Given the description of an element on the screen output the (x, y) to click on. 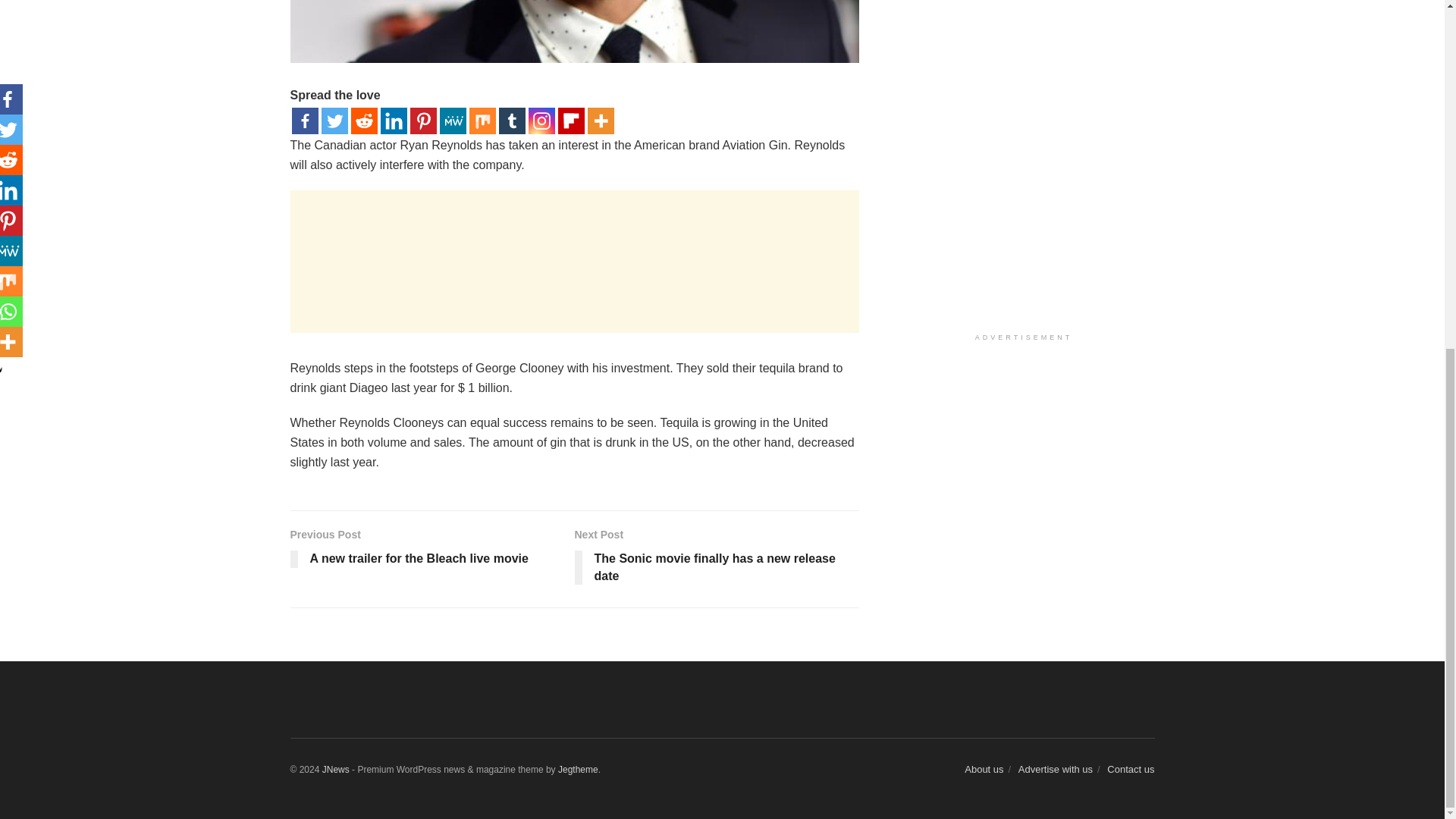
Pinterest (422, 120)
Twitter (334, 120)
Flipboard (571, 120)
MeWe (452, 120)
Instagram (540, 120)
Tumblr (512, 120)
Advertisement (574, 261)
Mix (481, 120)
Facebook (304, 120)
Reddit (363, 120)
More (599, 120)
Linkedin (393, 120)
